Given the description of an element on the screen output the (x, y) to click on. 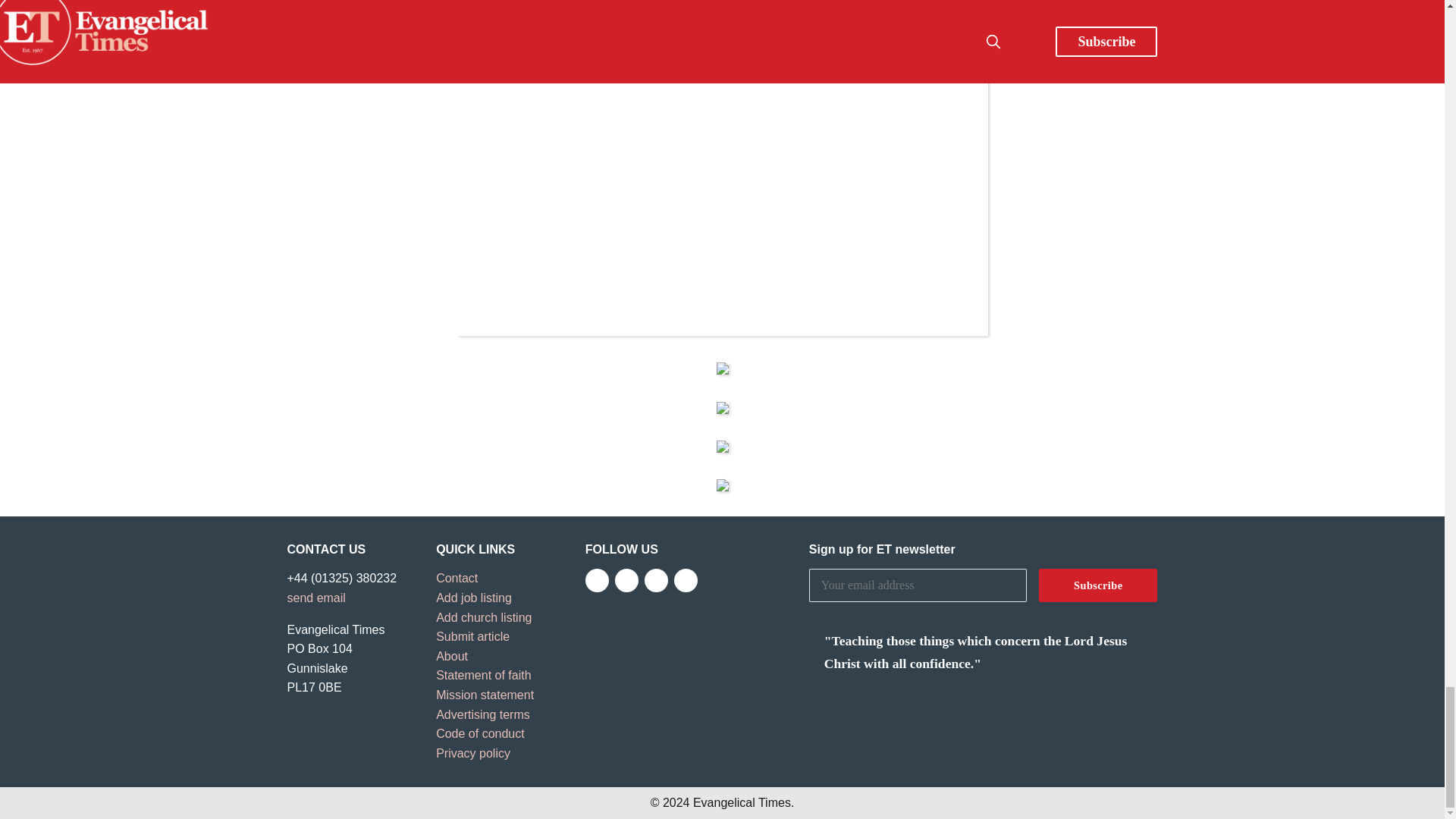
Facebook (596, 580)
Instagram (656, 580)
Linkedin (685, 580)
Twitter (626, 580)
